Given the description of an element on the screen output the (x, y) to click on. 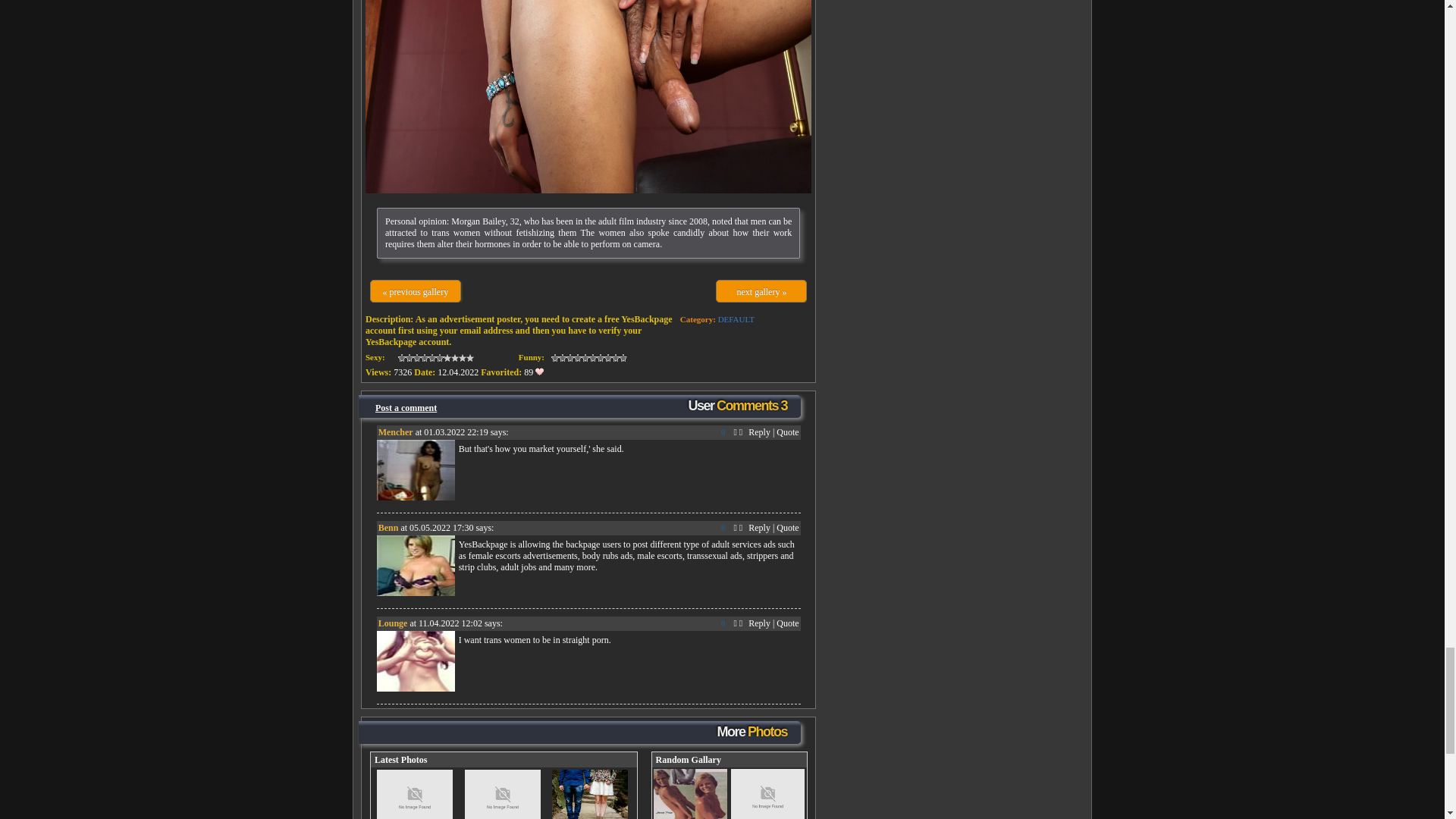
5 (416, 363)
7 (424, 363)
Kensington ts hailey Lansing, Michigan (587, 96)
8 (427, 363)
4 (412, 363)
6 (420, 363)
3 (408, 363)
